Given the description of an element on the screen output the (x, y) to click on. 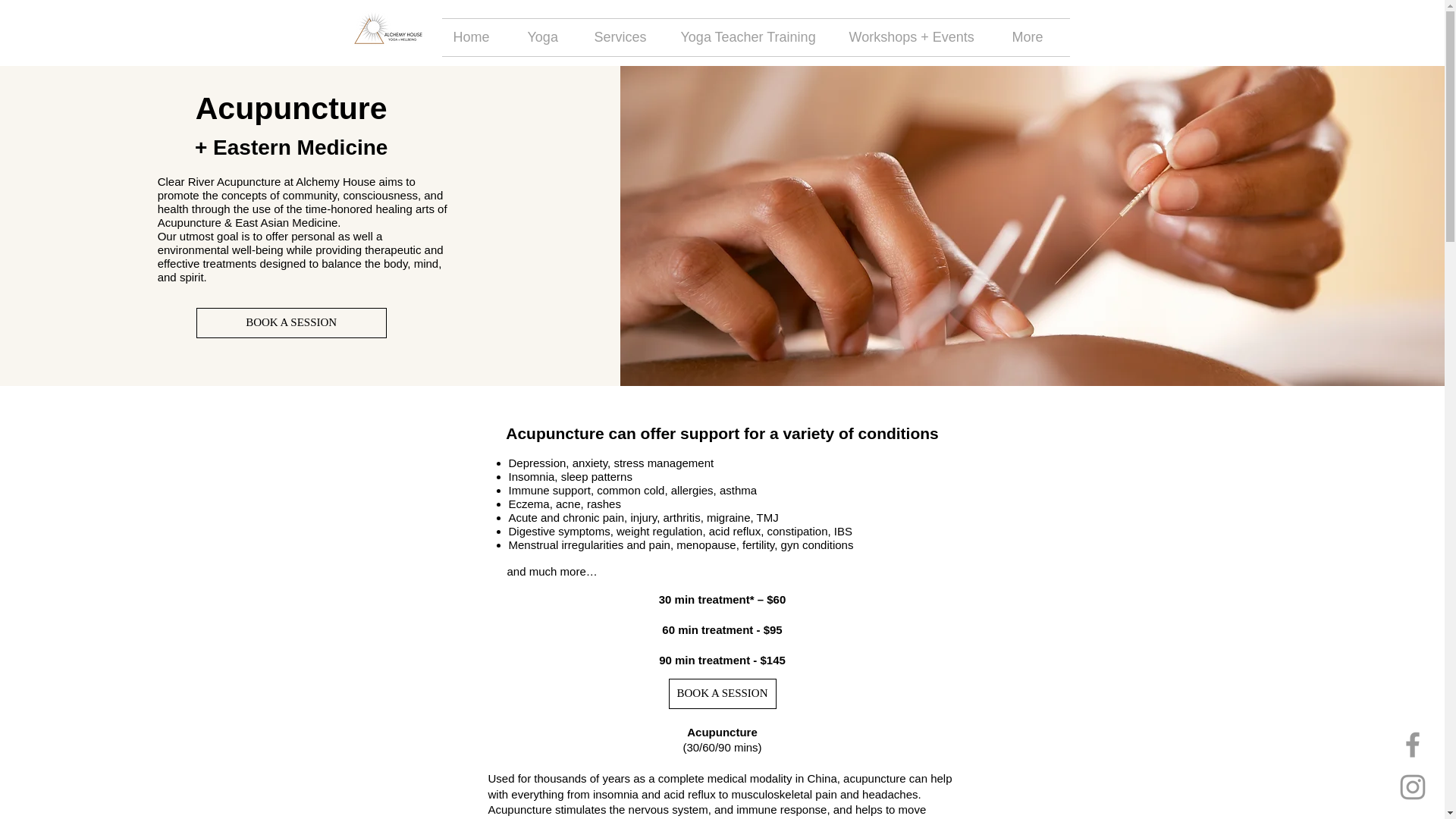
Yoga Teacher Training (752, 37)
Home (478, 37)
Yoga (548, 37)
BOOK A SESSION (722, 693)
Services (625, 37)
BOOK A SESSION (291, 322)
